Given the description of an element on the screen output the (x, y) to click on. 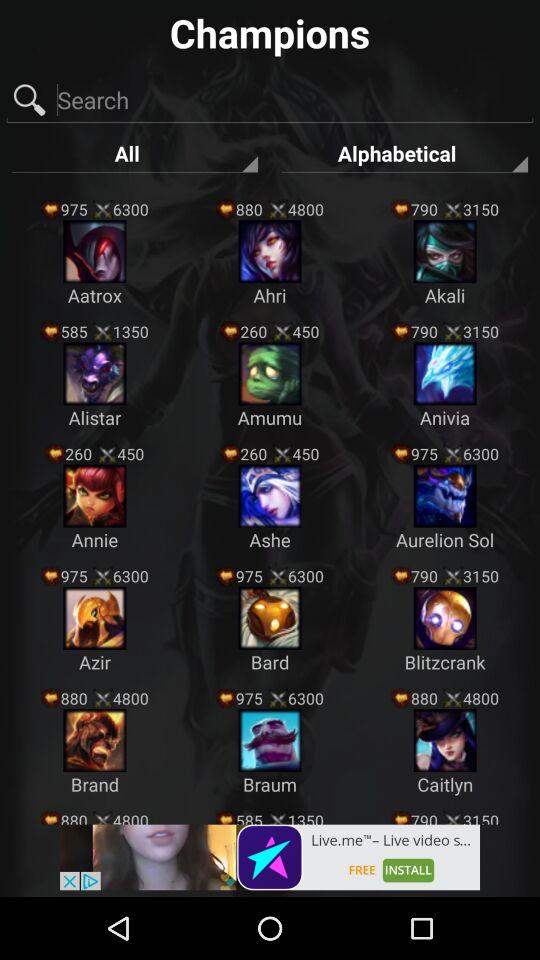
advertisement banner (270, 857)
